Given the description of an element on the screen output the (x, y) to click on. 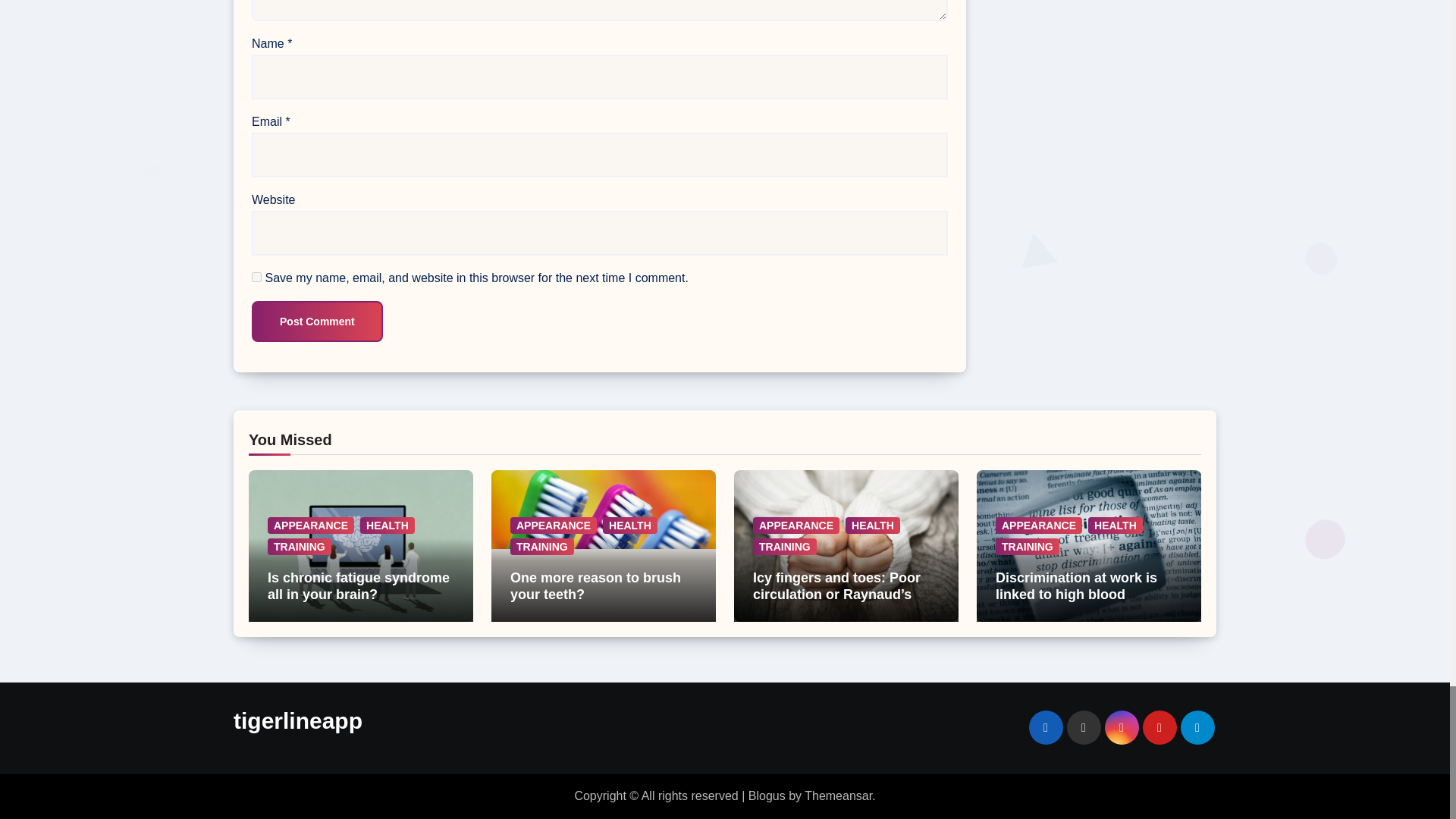
Post Comment (316, 321)
Permalink to: Is chronic fatigue syndrome all in your brain? (358, 585)
Permalink to: One more reason to brush your teeth? (596, 585)
yes (256, 276)
